Given the description of an element on the screen output the (x, y) to click on. 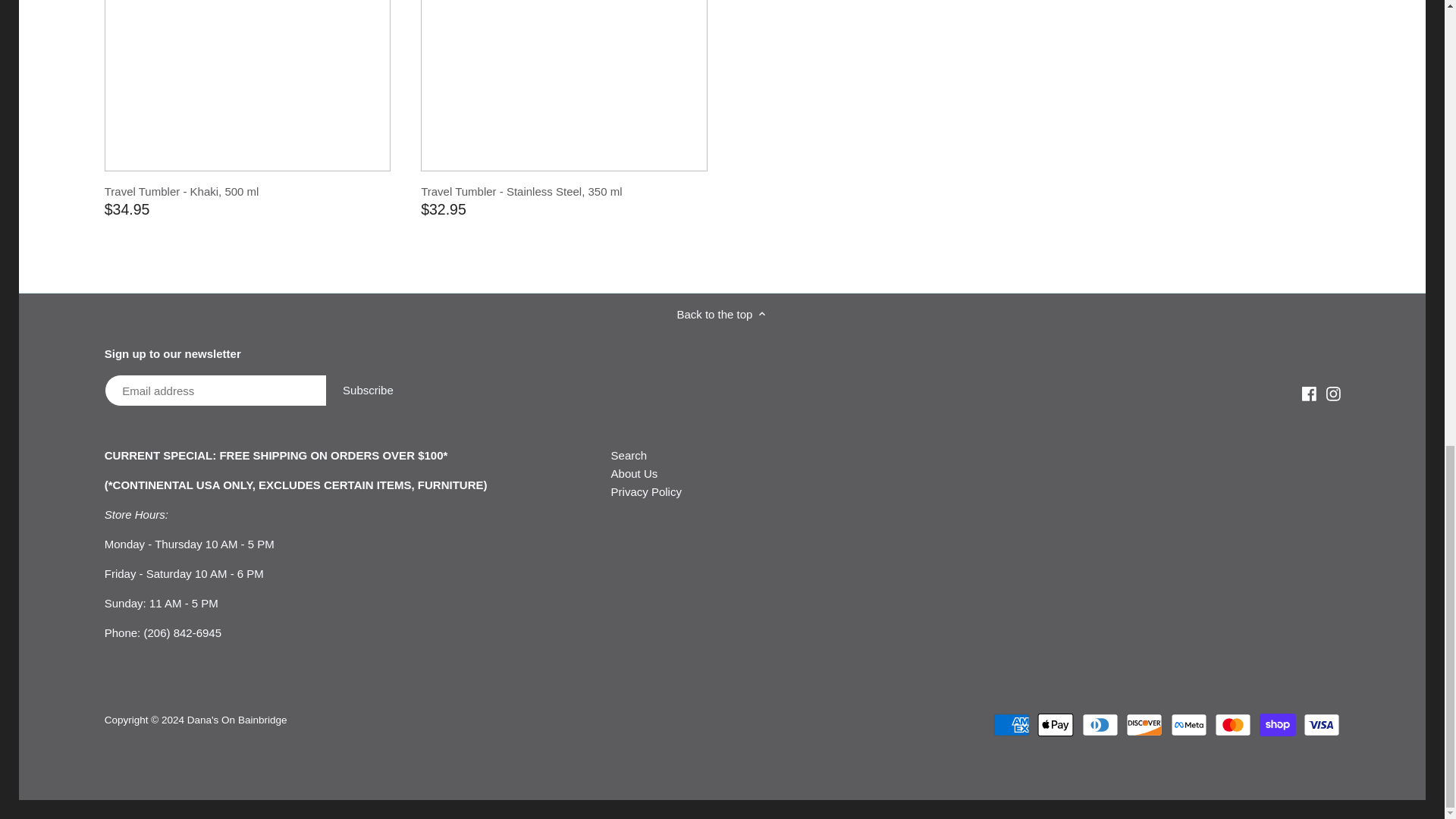
Facebook (1308, 393)
Discover (1143, 724)
Instagram (1331, 393)
American Express (1010, 724)
Apple Pay (1055, 724)
Instagram (1331, 392)
Diners Club (1099, 724)
Facebook (1308, 392)
Subscribe (368, 390)
